Given the description of an element on the screen output the (x, y) to click on. 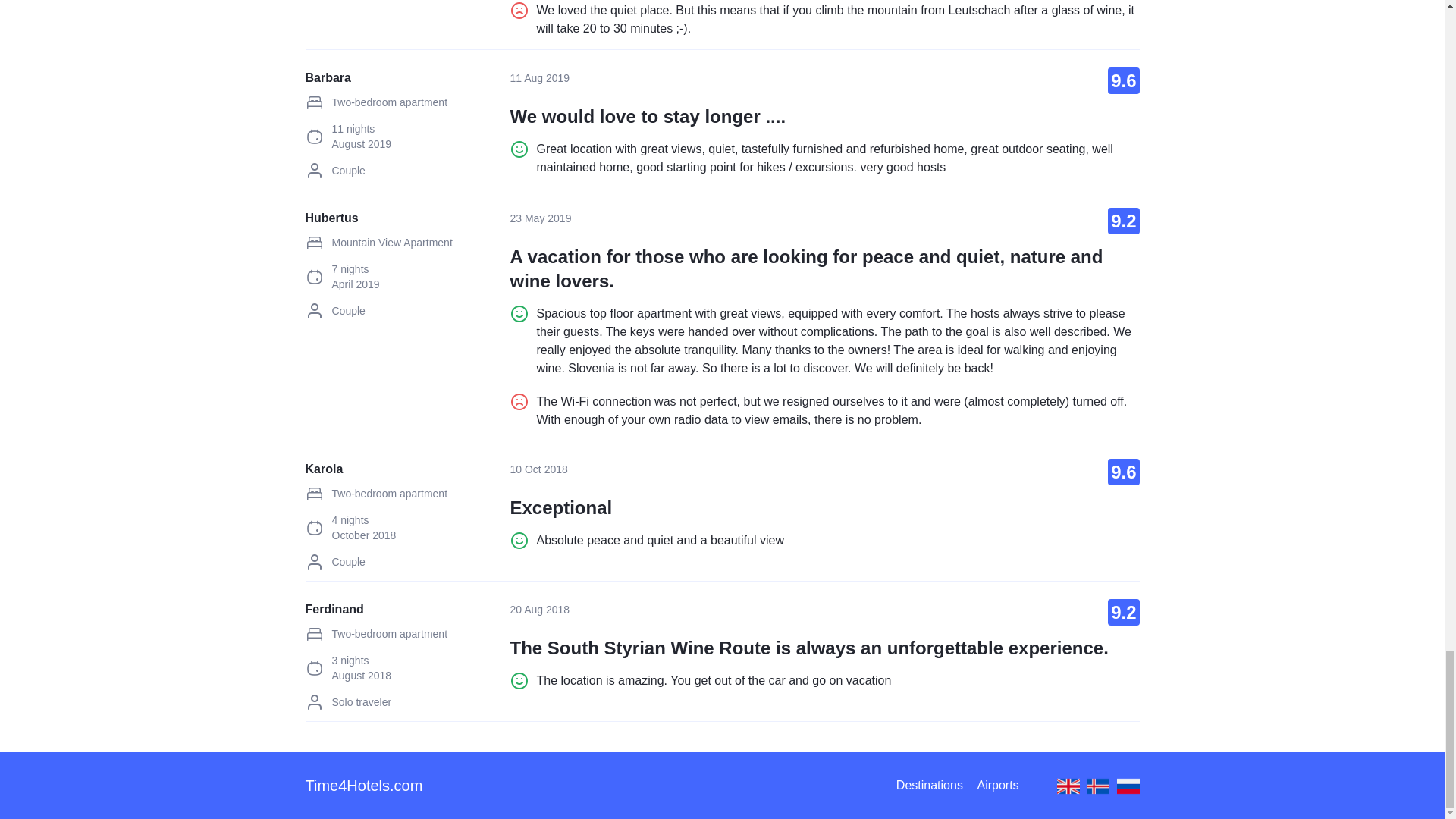
Time4Hotels.com (363, 785)
Airports (1002, 784)
Destinations (935, 784)
